Given the description of an element on the screen output the (x, y) to click on. 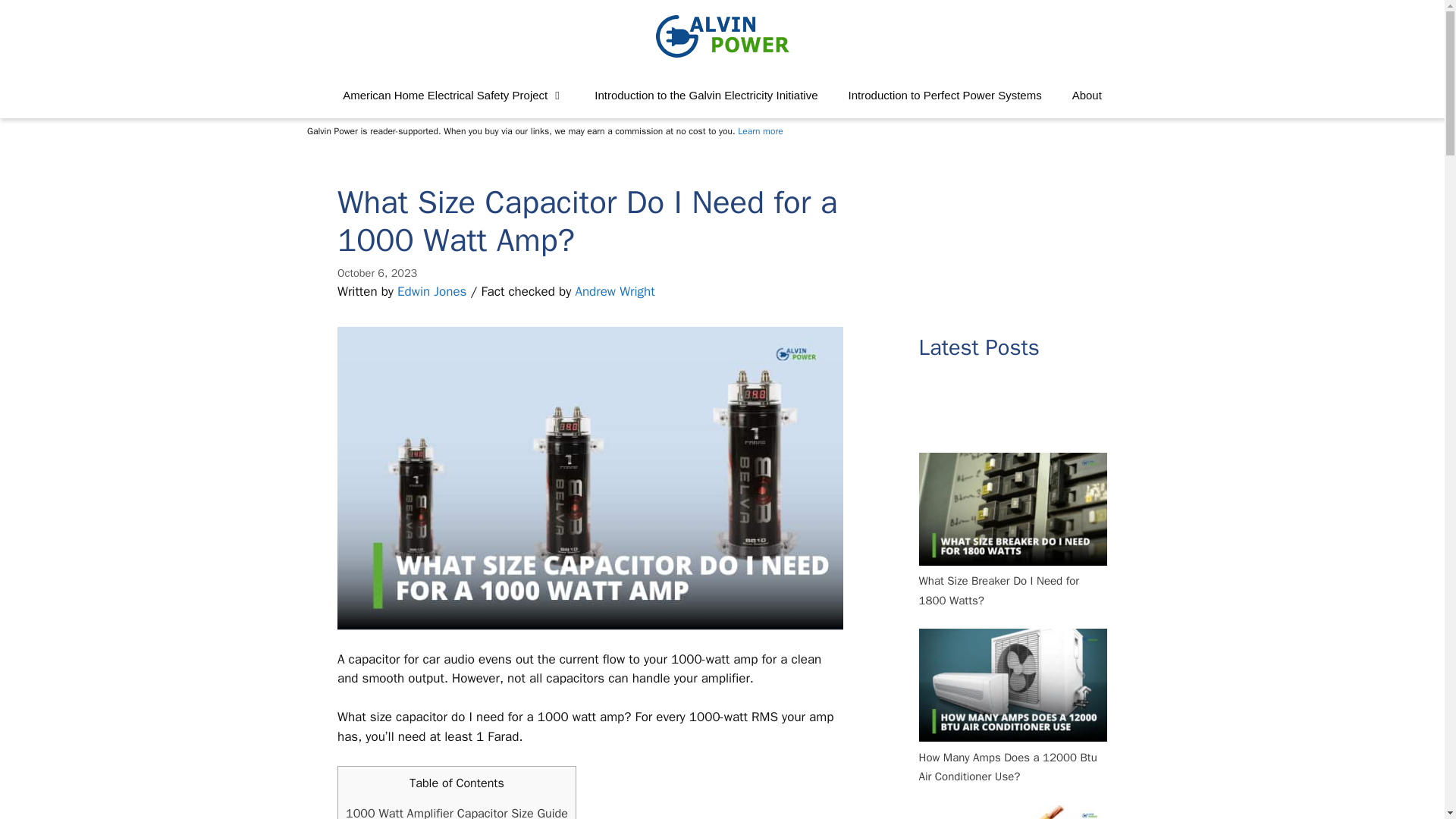
American Home Electrical Safety Project (453, 94)
